Given the description of an element on the screen output the (x, y) to click on. 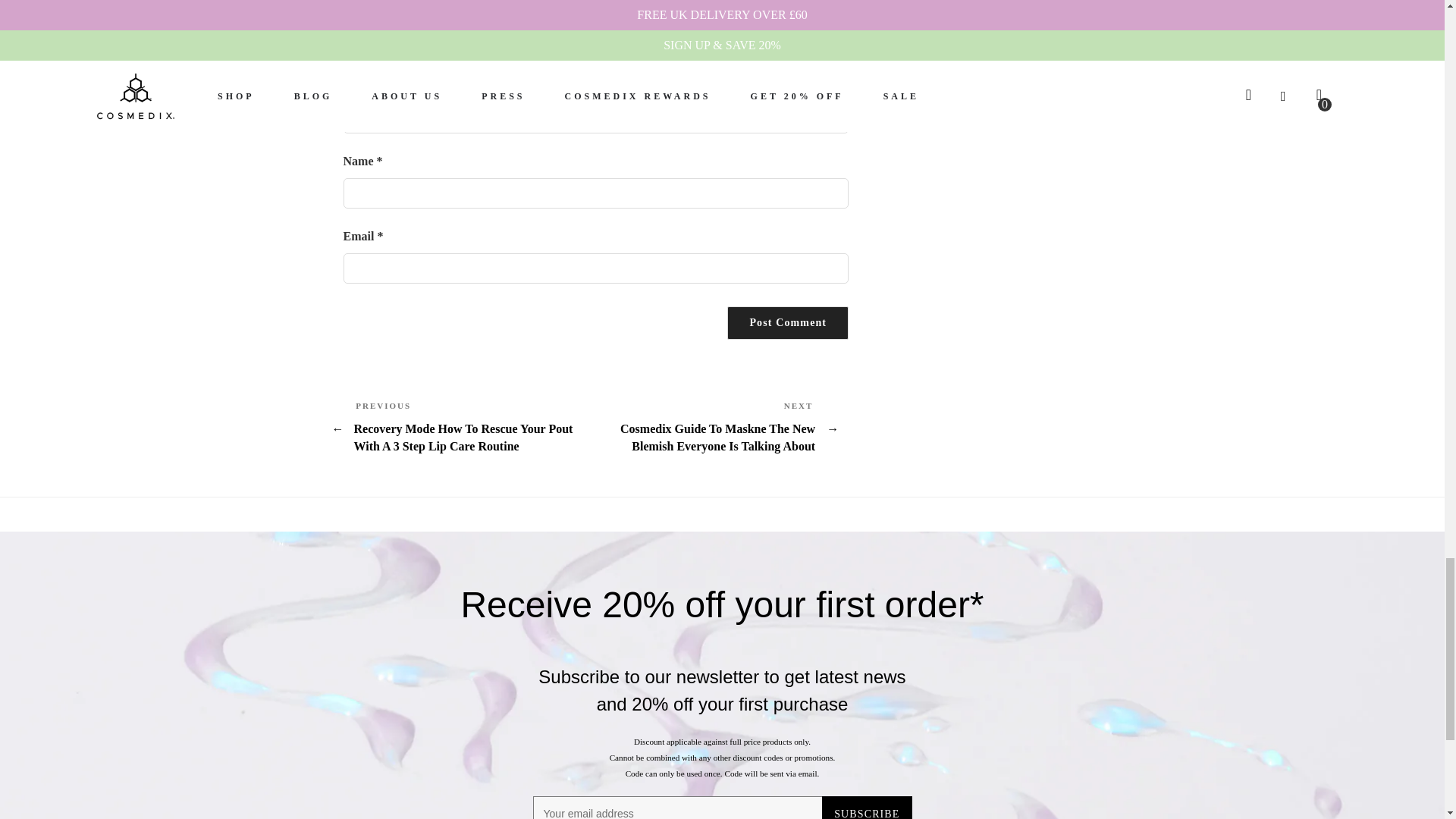
Post comment (787, 322)
